Given the description of an element on the screen output the (x, y) to click on. 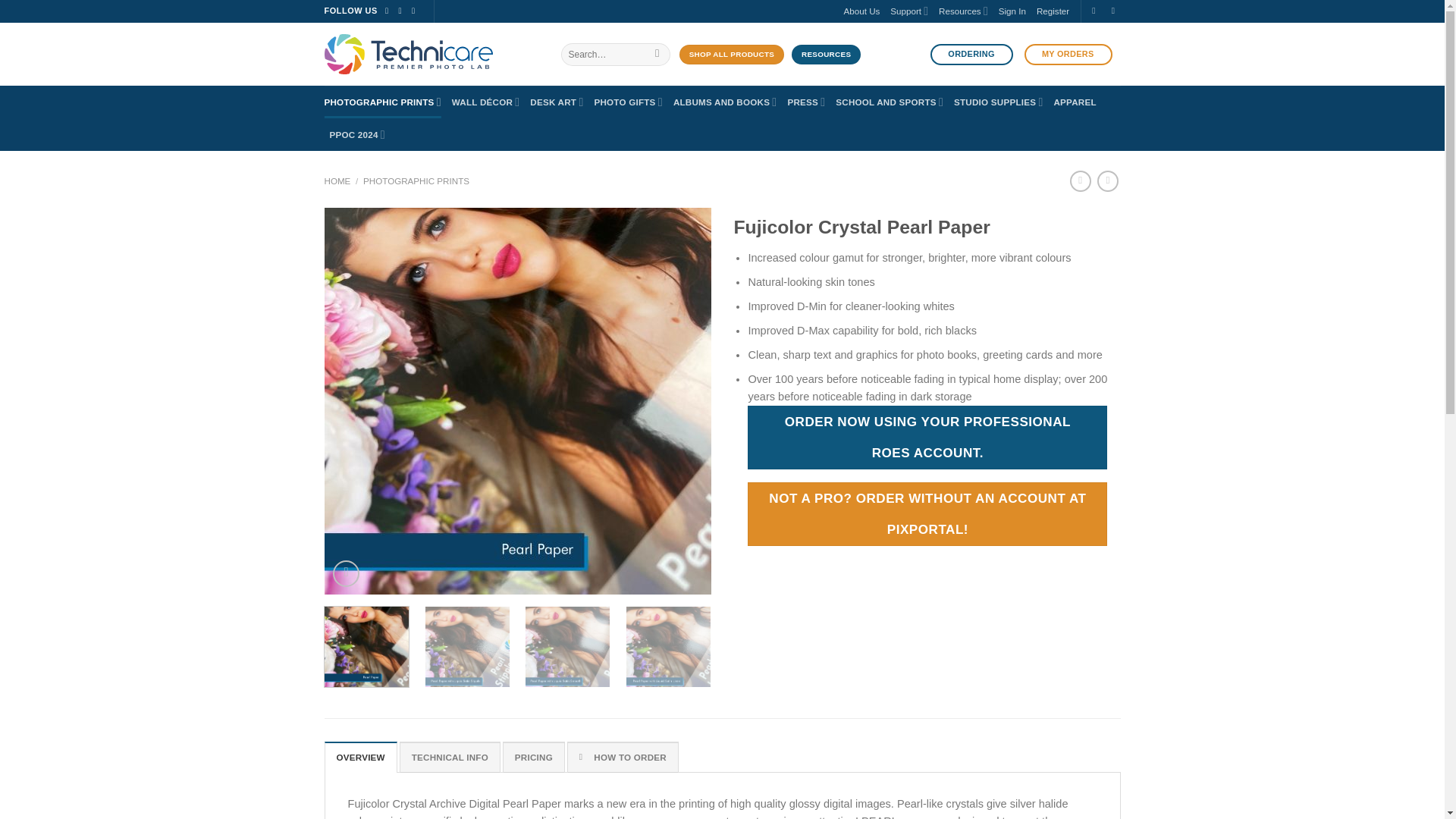
About Us (862, 11)
Resources (963, 11)
SHOP ALL PRODUCTS (731, 54)
Support (908, 11)
Follow on Instagram (402, 10)
PHOTOGRAPHIC PRINTS (382, 101)
RESOURCES (826, 54)
Technicare - Premier Photo Lab (431, 53)
MY ORDERS (1068, 54)
Follow on Facebook (389, 10)
ORDERING (971, 54)
Search (657, 54)
Follow on YouTube (416, 10)
Sign In (1012, 11)
Register (1052, 11)
